Given the description of an element on the screen output the (x, y) to click on. 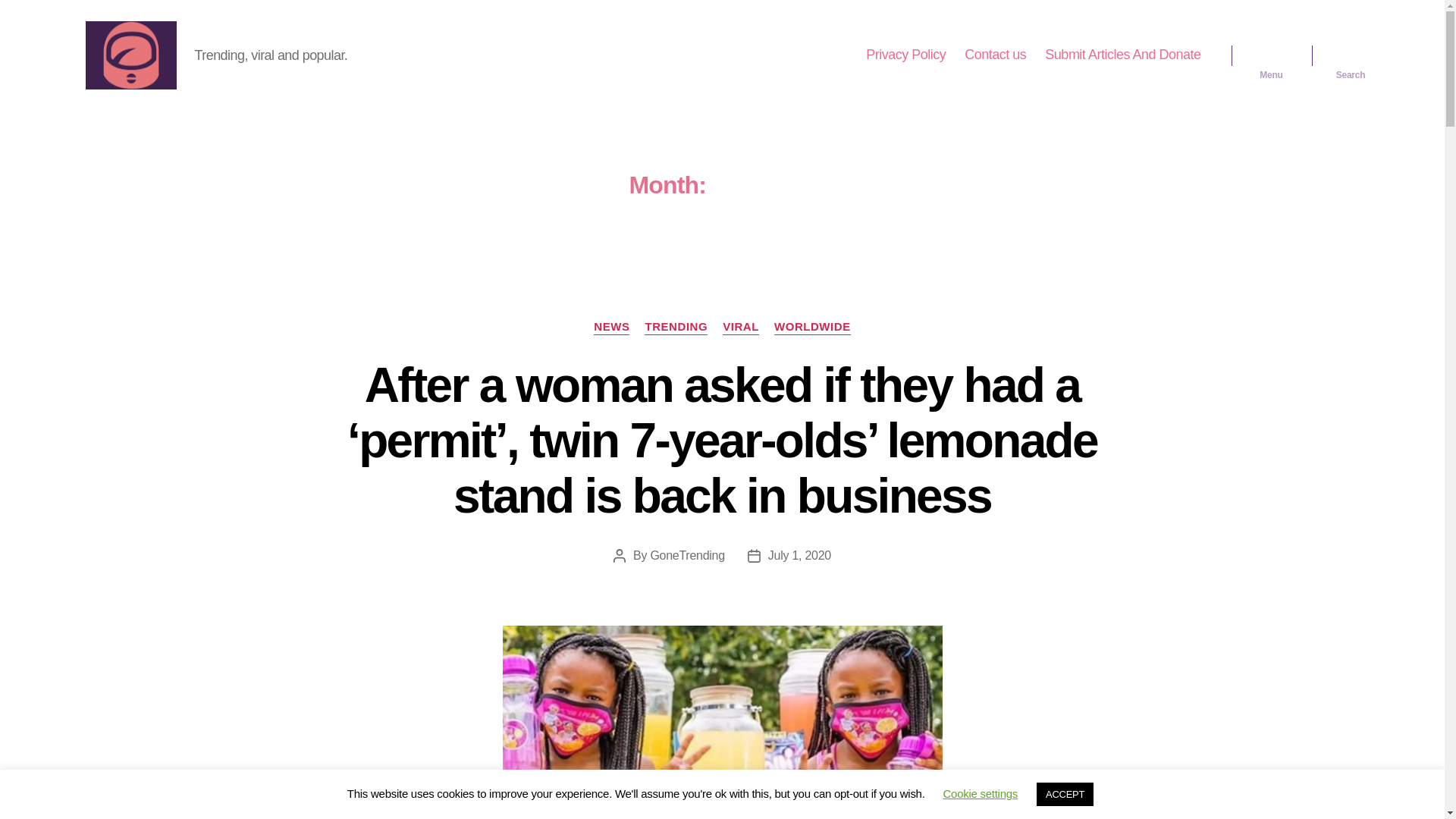
VIRAL (740, 327)
Contact us (994, 54)
Search (1350, 55)
GoneTrending (686, 554)
Submit Articles And Donate (1122, 54)
TRENDING (676, 327)
NEWS (611, 327)
WORLDWIDE (812, 327)
Privacy Policy (905, 54)
July 1, 2020 (799, 554)
Menu (1271, 55)
